Given the description of an element on the screen output the (x, y) to click on. 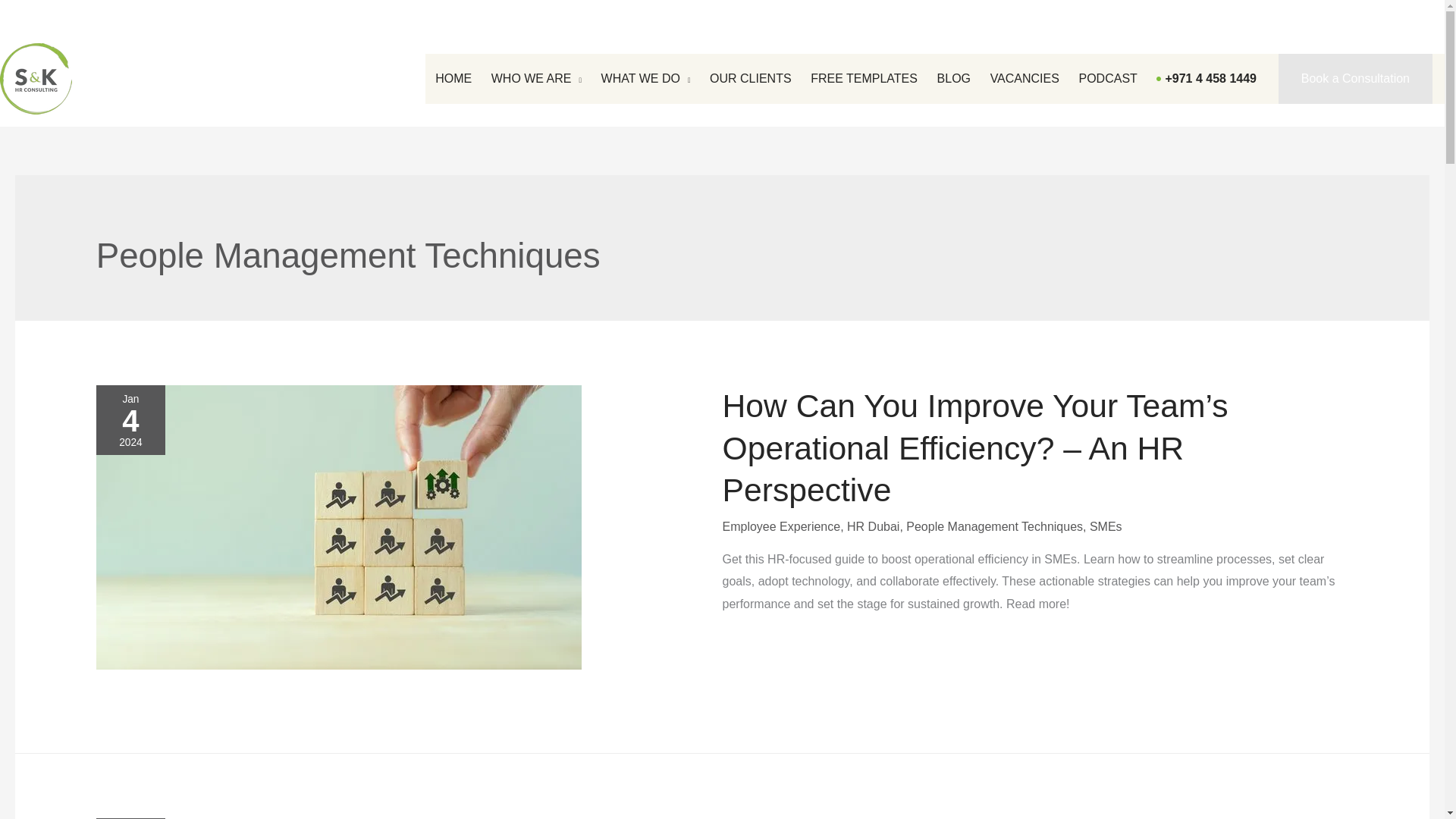
WHAT WE DO (645, 78)
HOME (453, 78)
WHO WE ARE (536, 78)
